Given the description of an element on the screen output the (x, y) to click on. 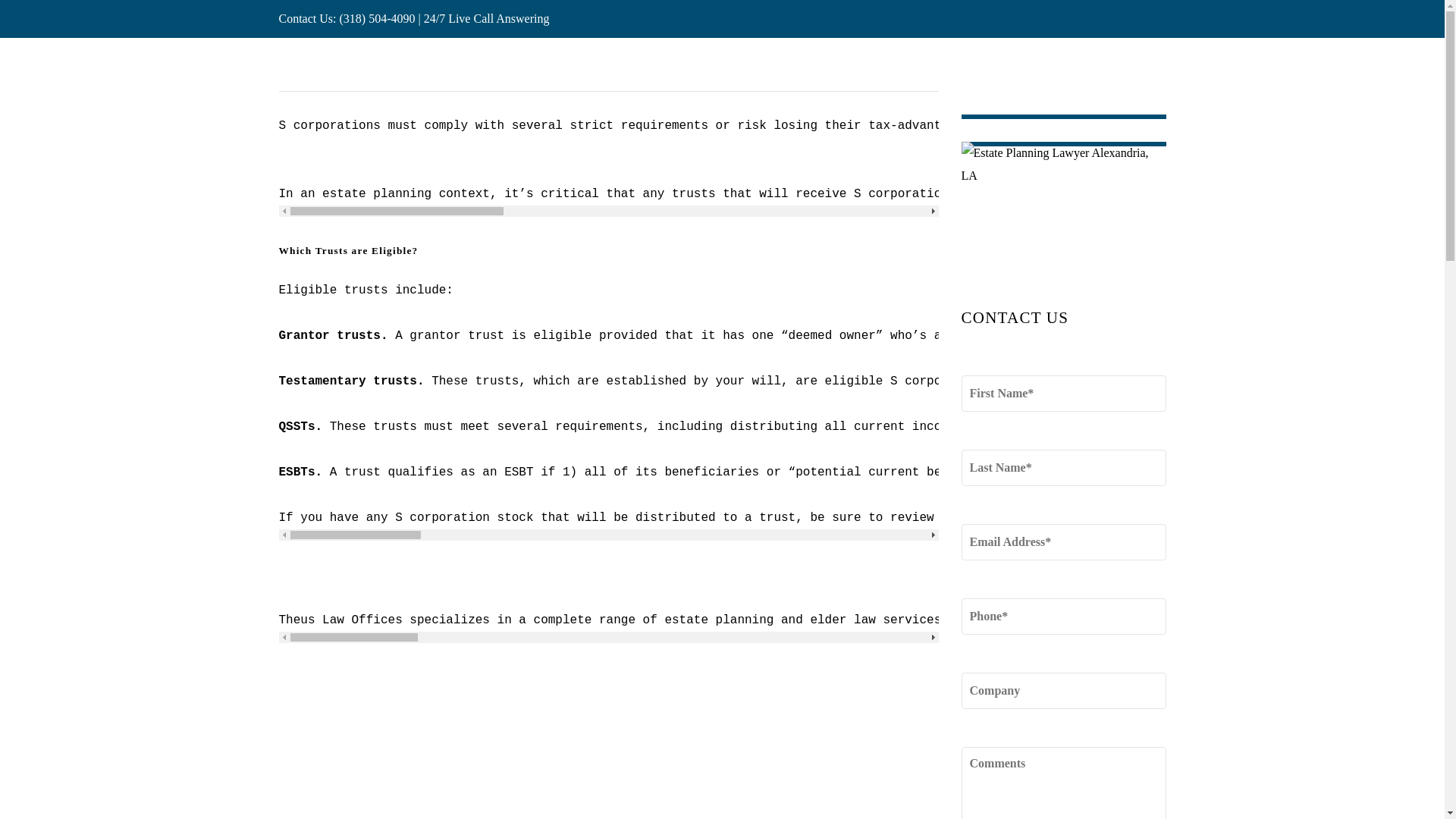
Search for: (1063, 64)
